Given the description of an element on the screen output the (x, y) to click on. 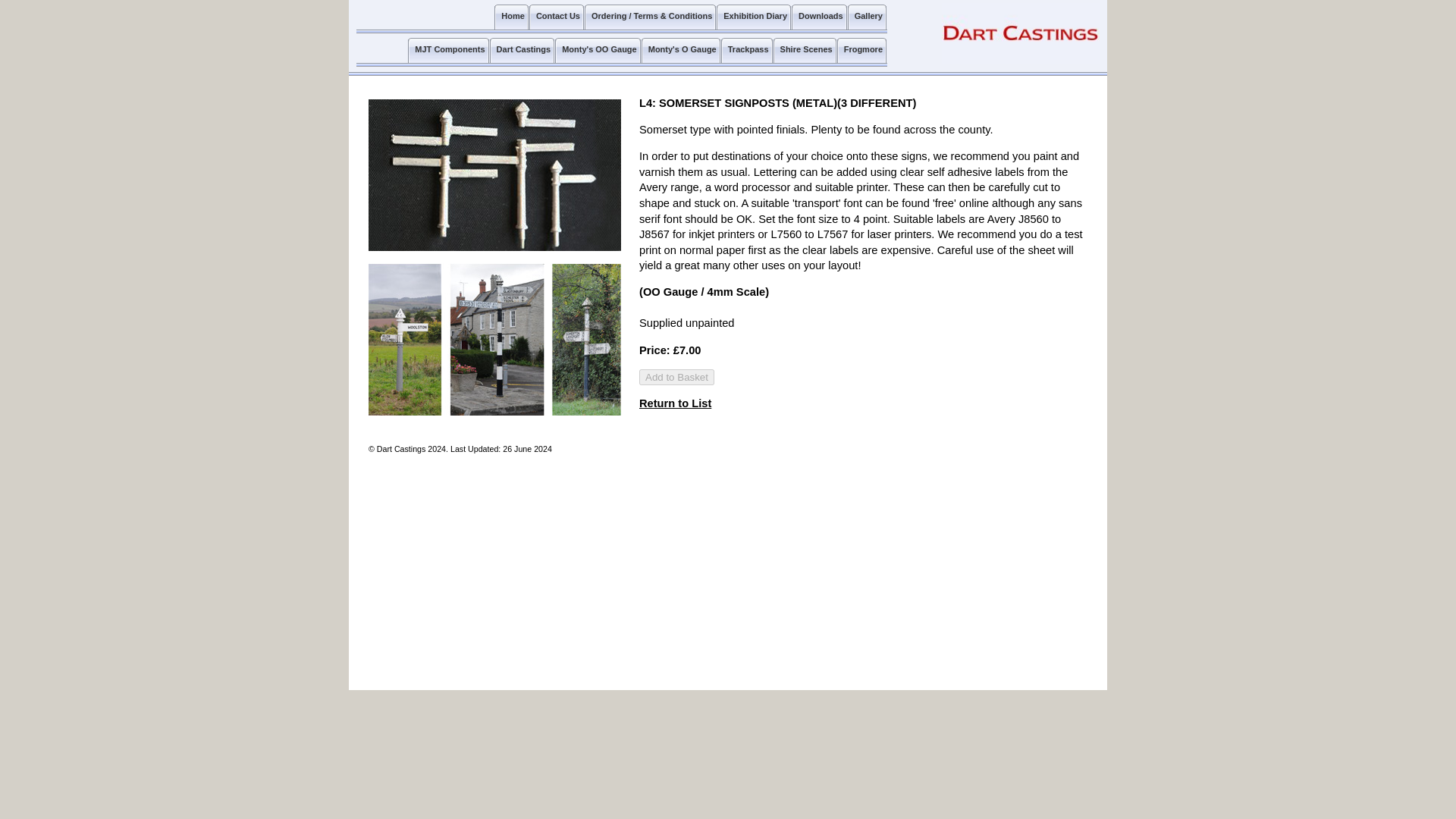
Add to Basket (676, 376)
Trackpass (746, 51)
Monty's OO Gauge (597, 51)
Shire Scenes (804, 51)
Gallery (866, 18)
Contact Us (556, 18)
Add to Basket (676, 376)
Monty's O Gauge (681, 51)
Exhibition Diary (753, 18)
Return to List (675, 403)
Downloads (819, 18)
Home (511, 18)
MJT Components (447, 51)
Dart Castings (521, 51)
Frogmore (861, 51)
